Given the description of an element on the screen output the (x, y) to click on. 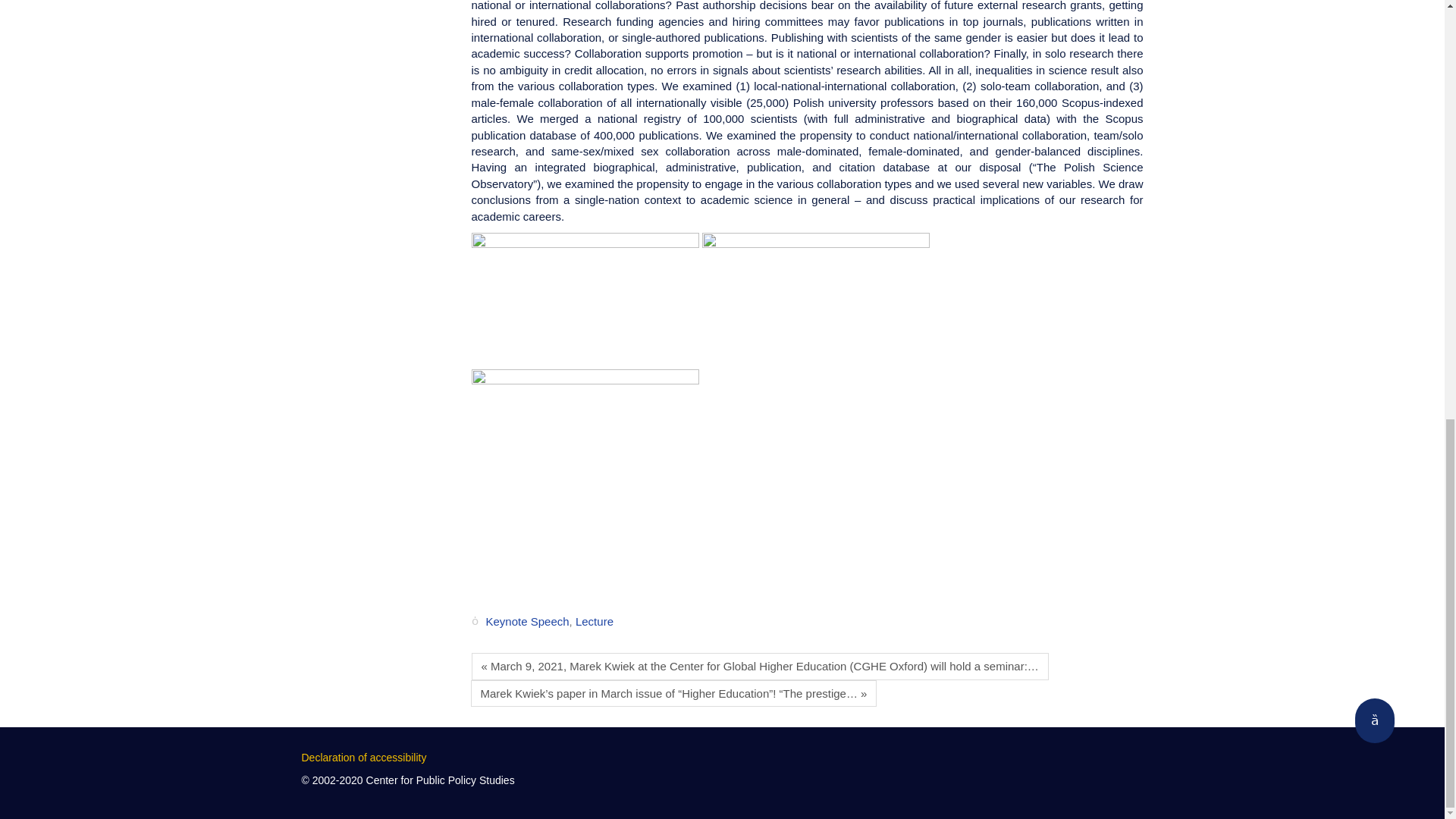
Keynote Speech (526, 621)
Declaration of accessibility (363, 757)
Lecture (593, 621)
